Given the description of an element on the screen output the (x, y) to click on. 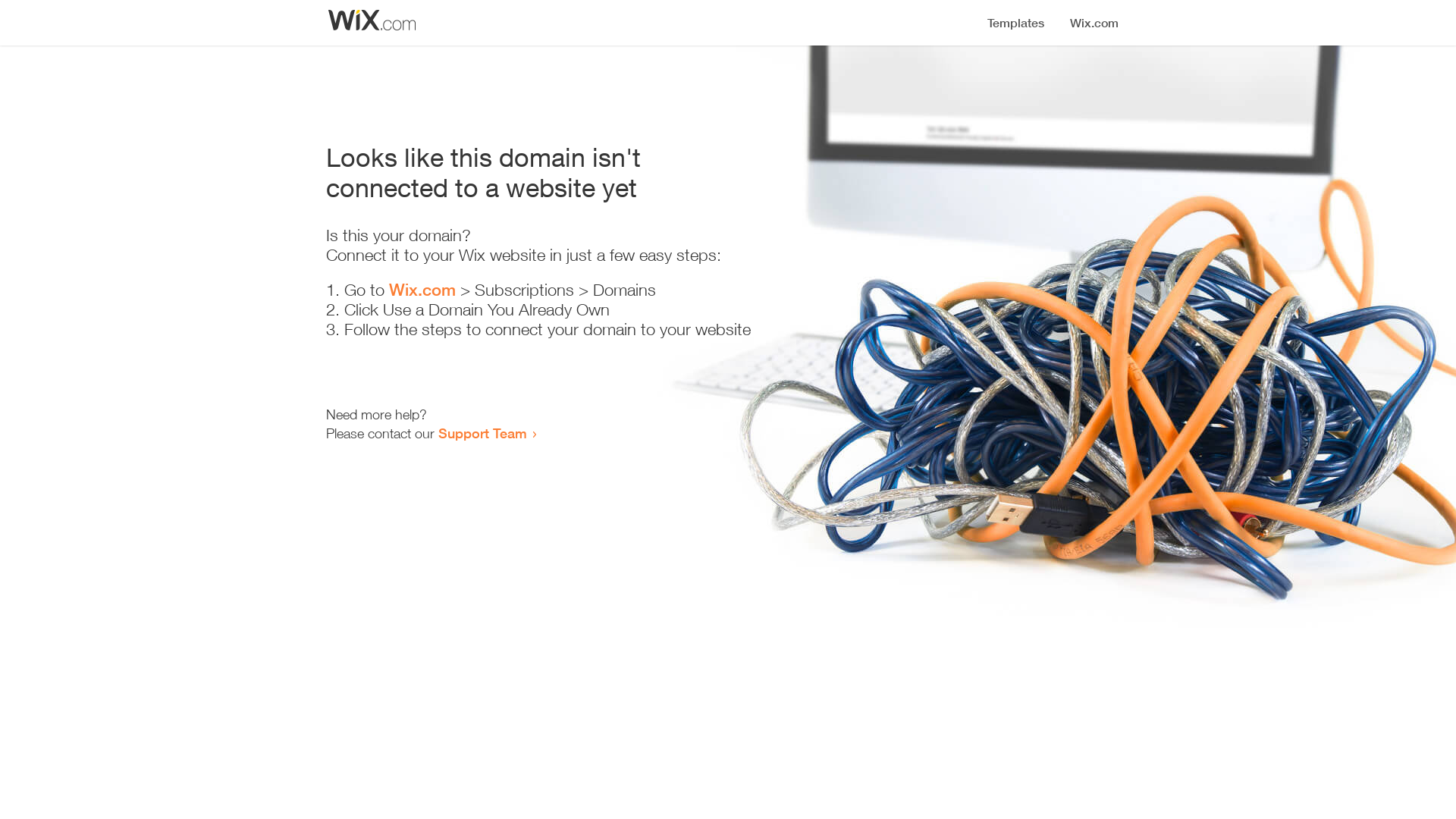
Wix.com Element type: text (422, 289)
Support Team Element type: text (482, 432)
